Given the description of an element on the screen output the (x, y) to click on. 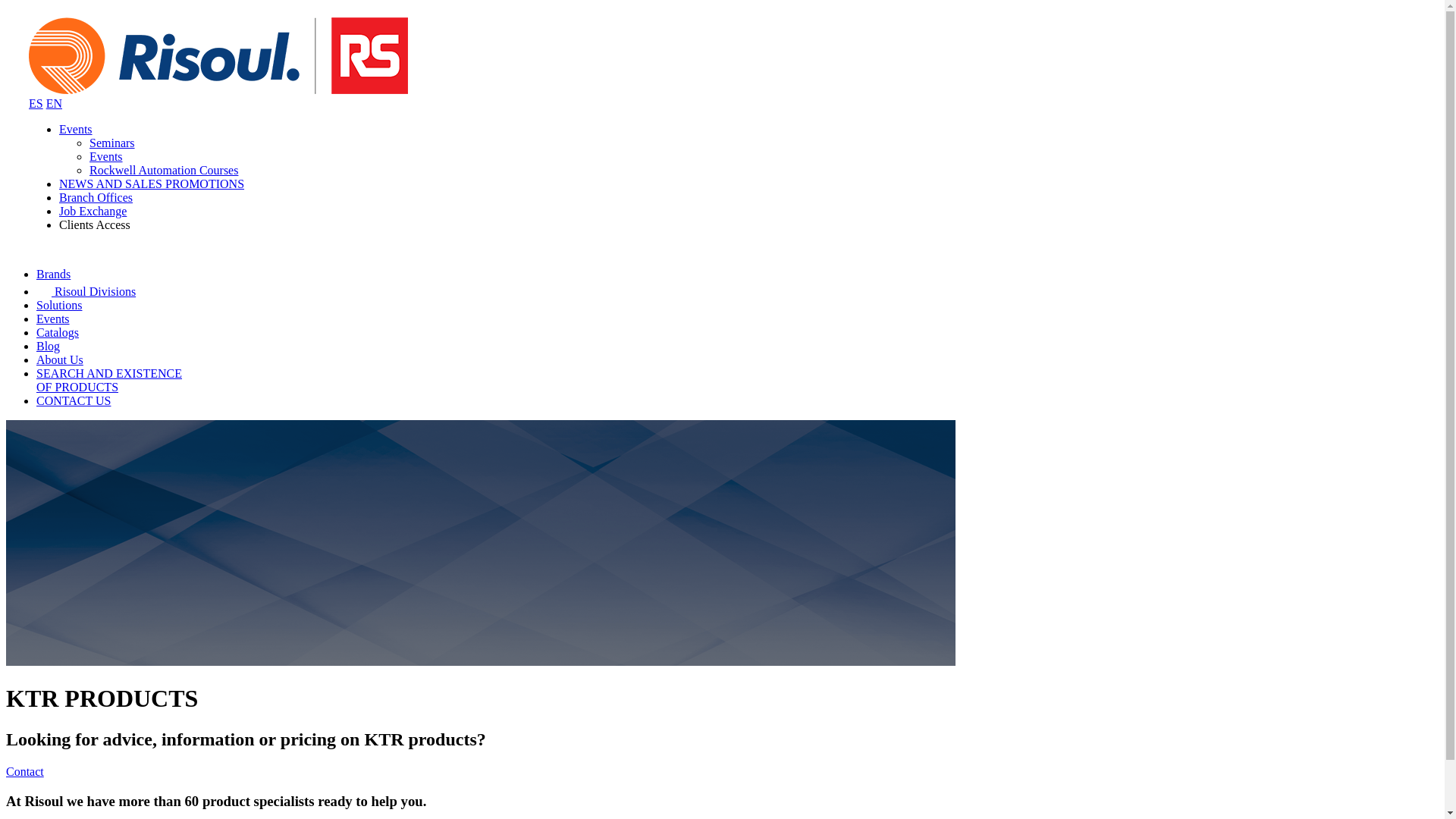
Catalogs (57, 332)
EN (54, 103)
Brands (52, 273)
Branch Offices (109, 379)
Events (95, 196)
Seminars (52, 318)
About Us (111, 142)
Events (59, 359)
Risoul Divisions (76, 128)
